Given the description of an element on the screen output the (x, y) to click on. 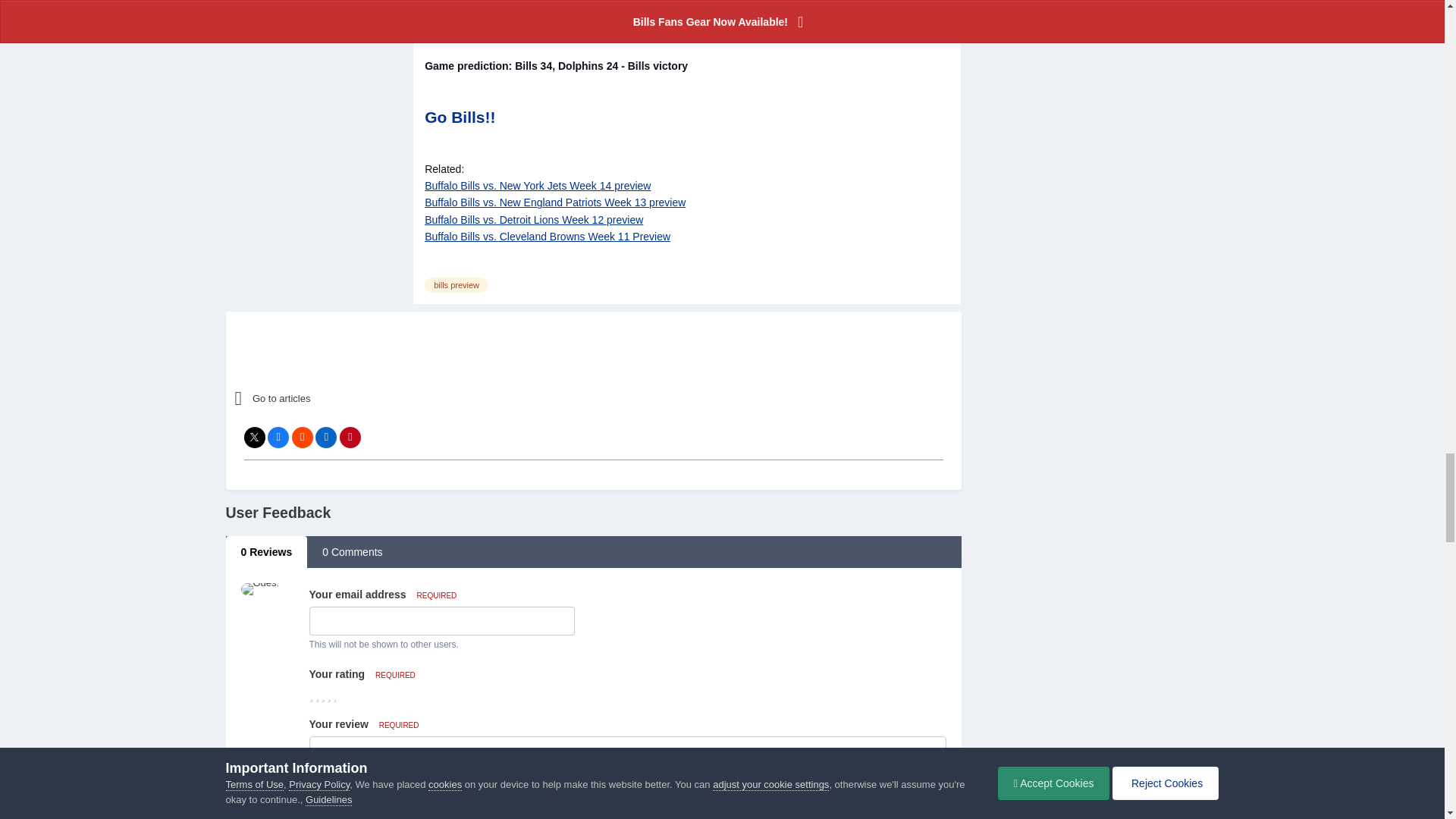
Share on LinkedIn (325, 436)
at the other place (522, 15)
Go to 2022 Buffalo Bills (367, 398)
Share on Facebook (277, 436)
Find other content tagged with 'bills preview' (456, 284)
0 Comments (352, 552)
0 Reviews (266, 552)
Share on Reddit (302, 436)
Share on Pinterest (350, 436)
Share on X (254, 436)
